Given the description of an element on the screen output the (x, y) to click on. 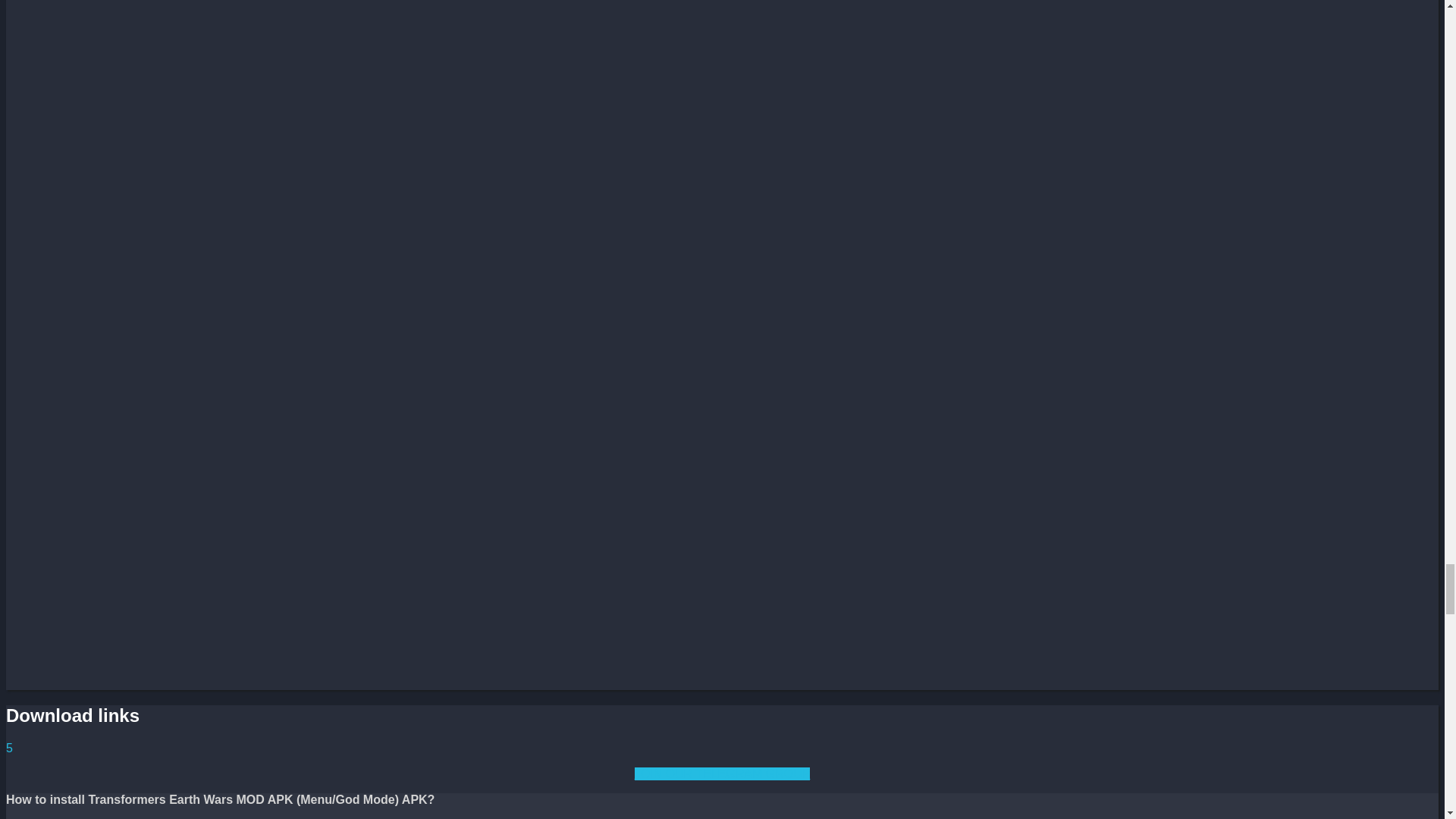
JOIN OUR TELEGRAM GROUP (722, 773)
